Given the description of an element on the screen output the (x, y) to click on. 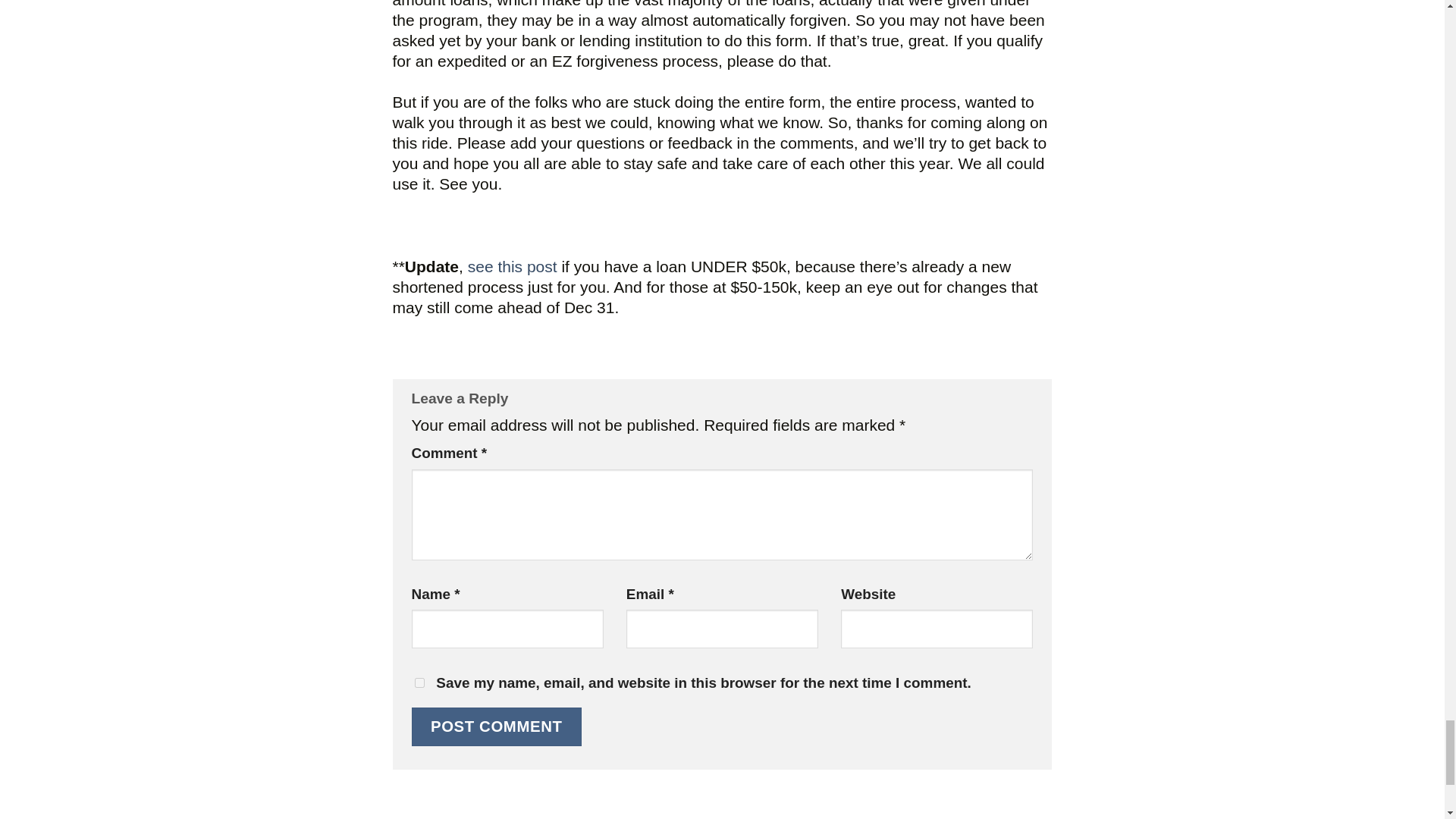
Post Comment (495, 726)
see this post  (514, 266)
yes (418, 682)
Post Comment (495, 726)
